Given the description of an element on the screen output the (x, y) to click on. 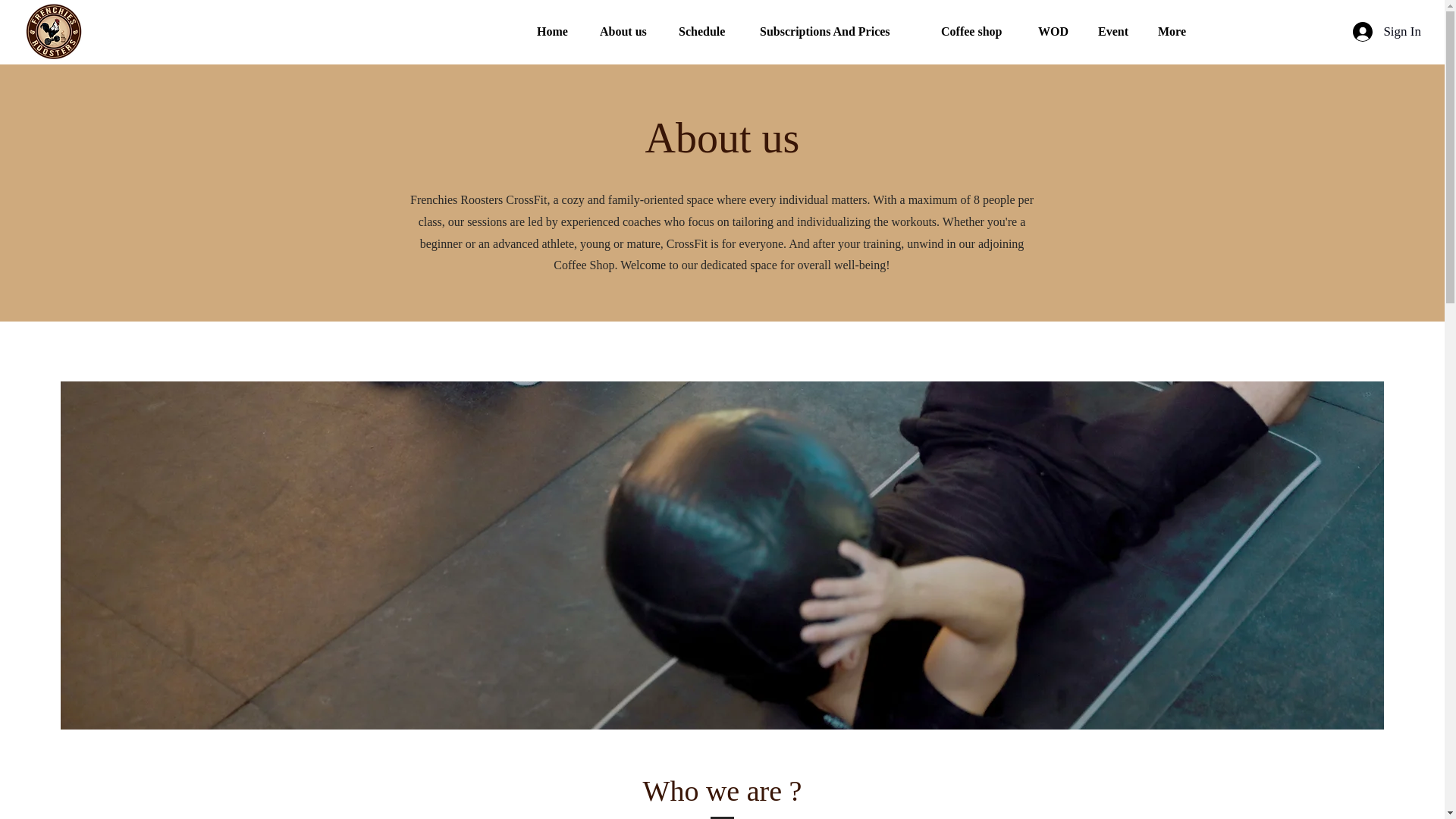
Home (556, 31)
WOD (1056, 31)
About us (627, 31)
Schedule (707, 31)
Subscriptions And Prices (839, 31)
Sign In (1386, 31)
Coffee shop (978, 31)
Event (1116, 31)
